Given the description of an element on the screen output the (x, y) to click on. 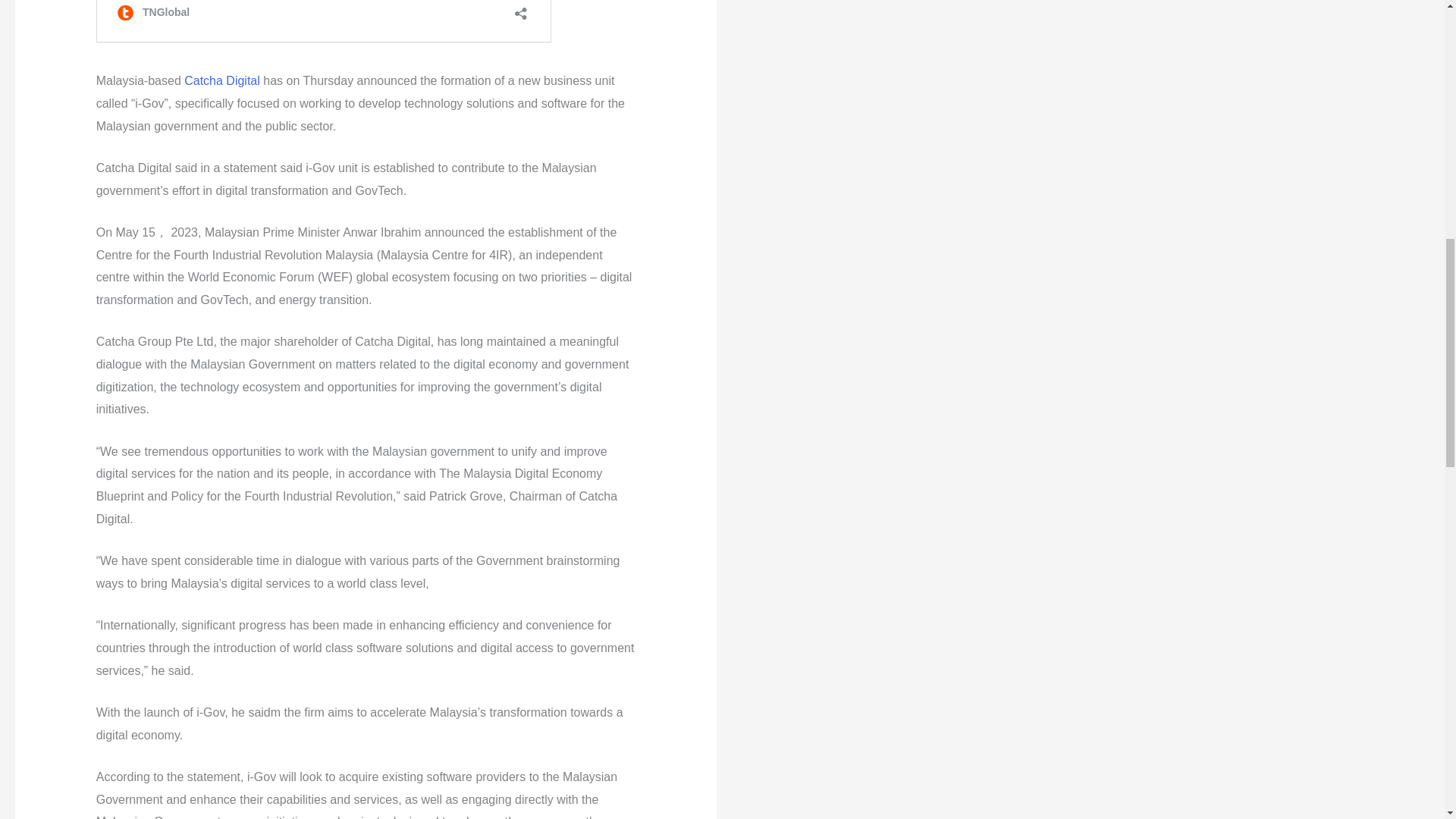
Catcha Digital (222, 80)
